Given the description of an element on the screen output the (x, y) to click on. 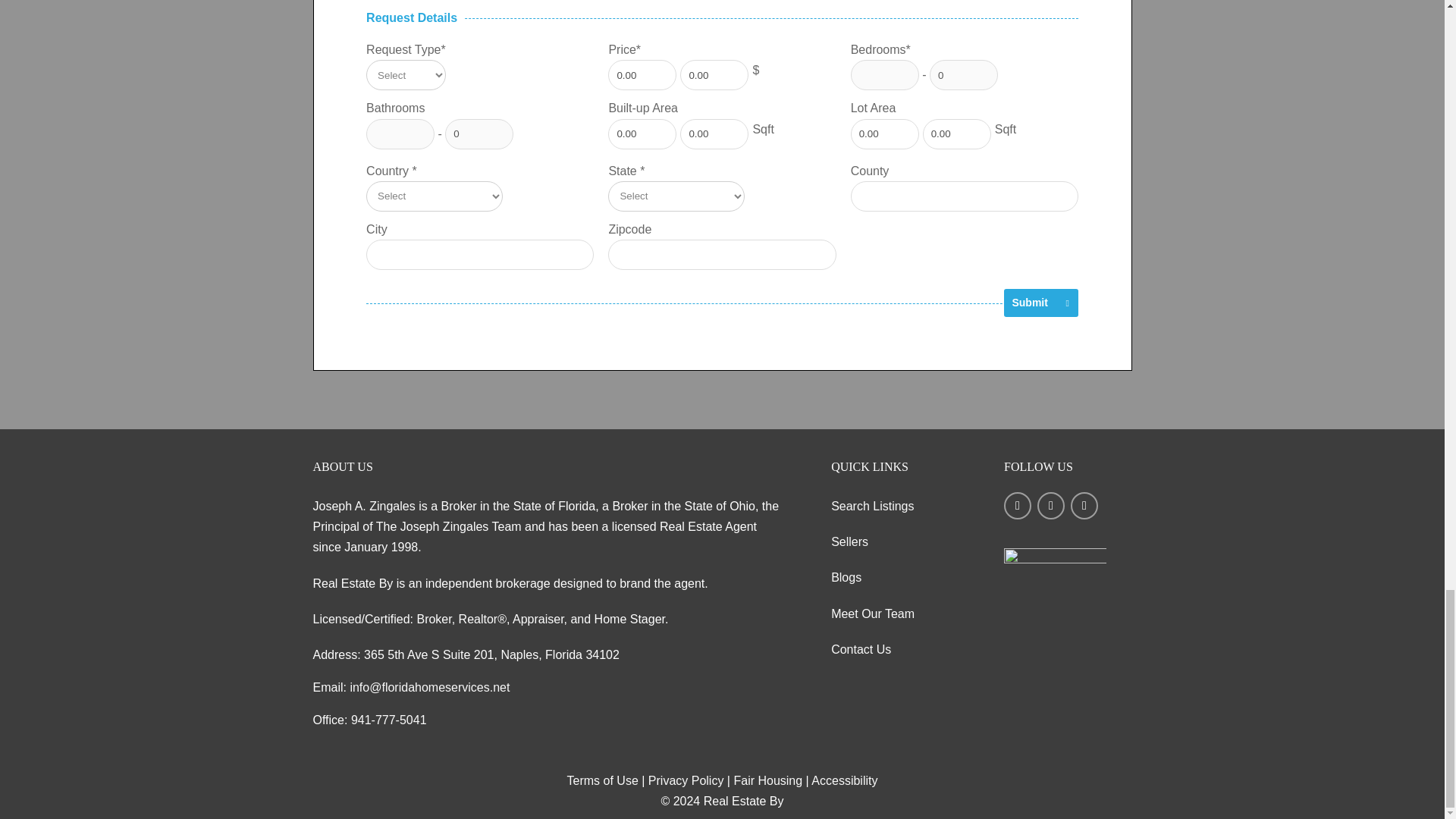
0.00 (642, 133)
0 (479, 133)
FOLLOW US (1067, 515)
0.00 (642, 74)
0.00 (713, 133)
0.00 (713, 74)
0 (963, 74)
